Given the description of an element on the screen output the (x, y) to click on. 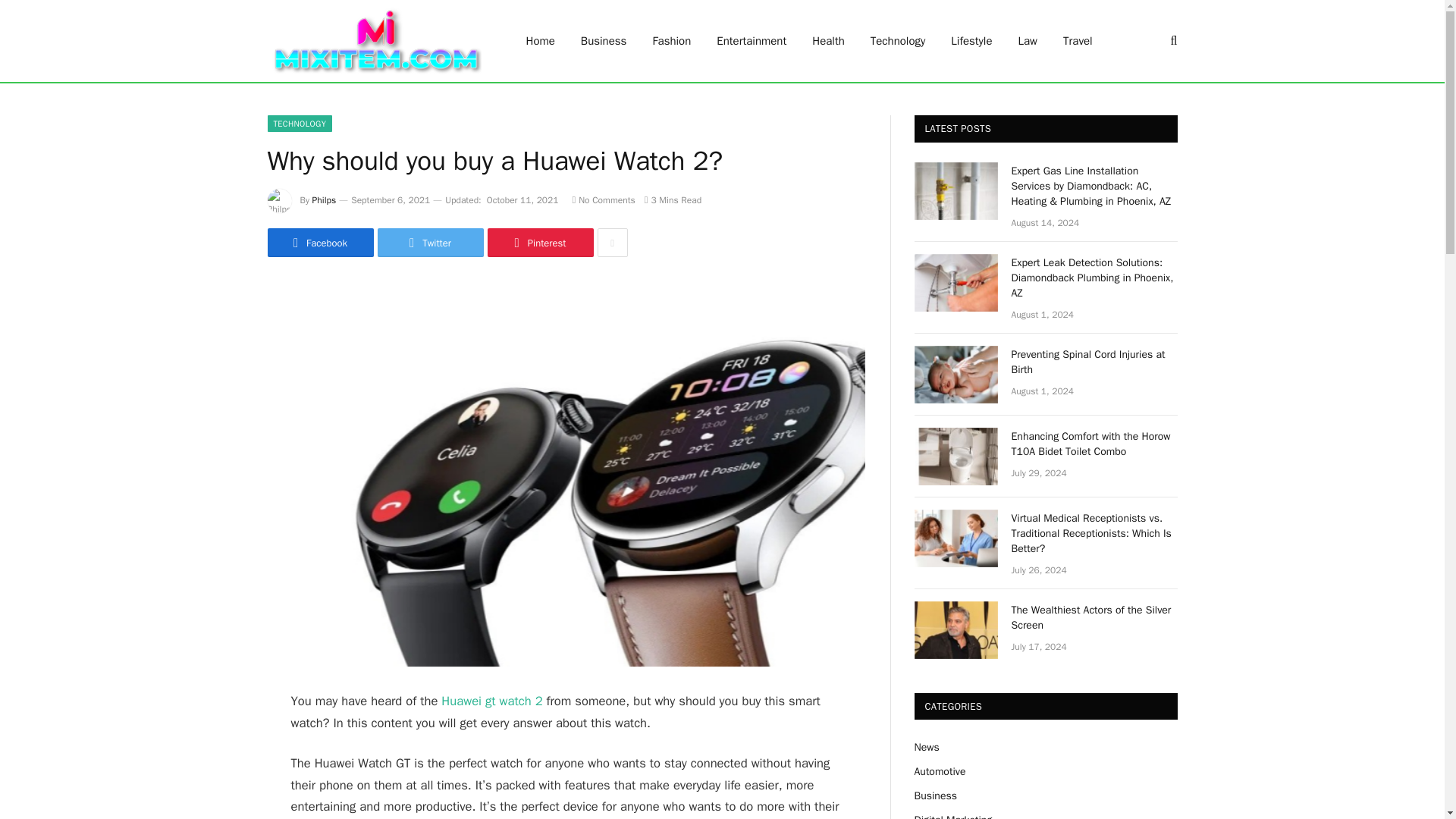
Philps (324, 200)
Posts by Philps (324, 200)
MixItem (376, 41)
TECHNOLOGY (298, 123)
No Comments (603, 200)
Twitter (430, 242)
Show More Social Sharing (611, 242)
Technology (898, 40)
Huawei gt watch 2 (491, 700)
